Given the description of an element on the screen output the (x, y) to click on. 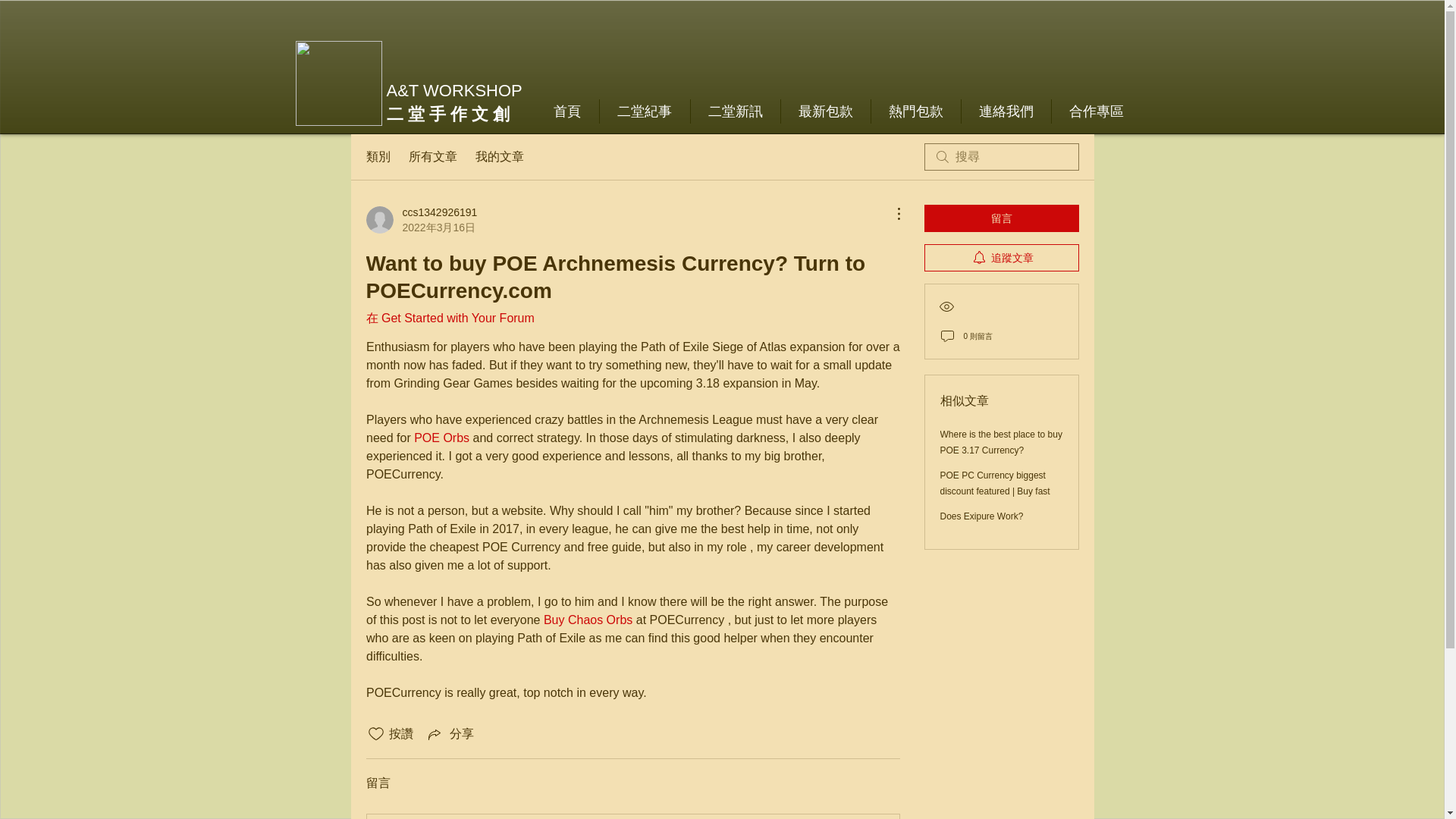
Where is the best place to buy POE 3.17 Currency? (1001, 442)
Buy Chaos Orbs (587, 619)
POE Orbs (440, 437)
Does Exipure Work? (981, 516)
